Given the description of an element on the screen output the (x, y) to click on. 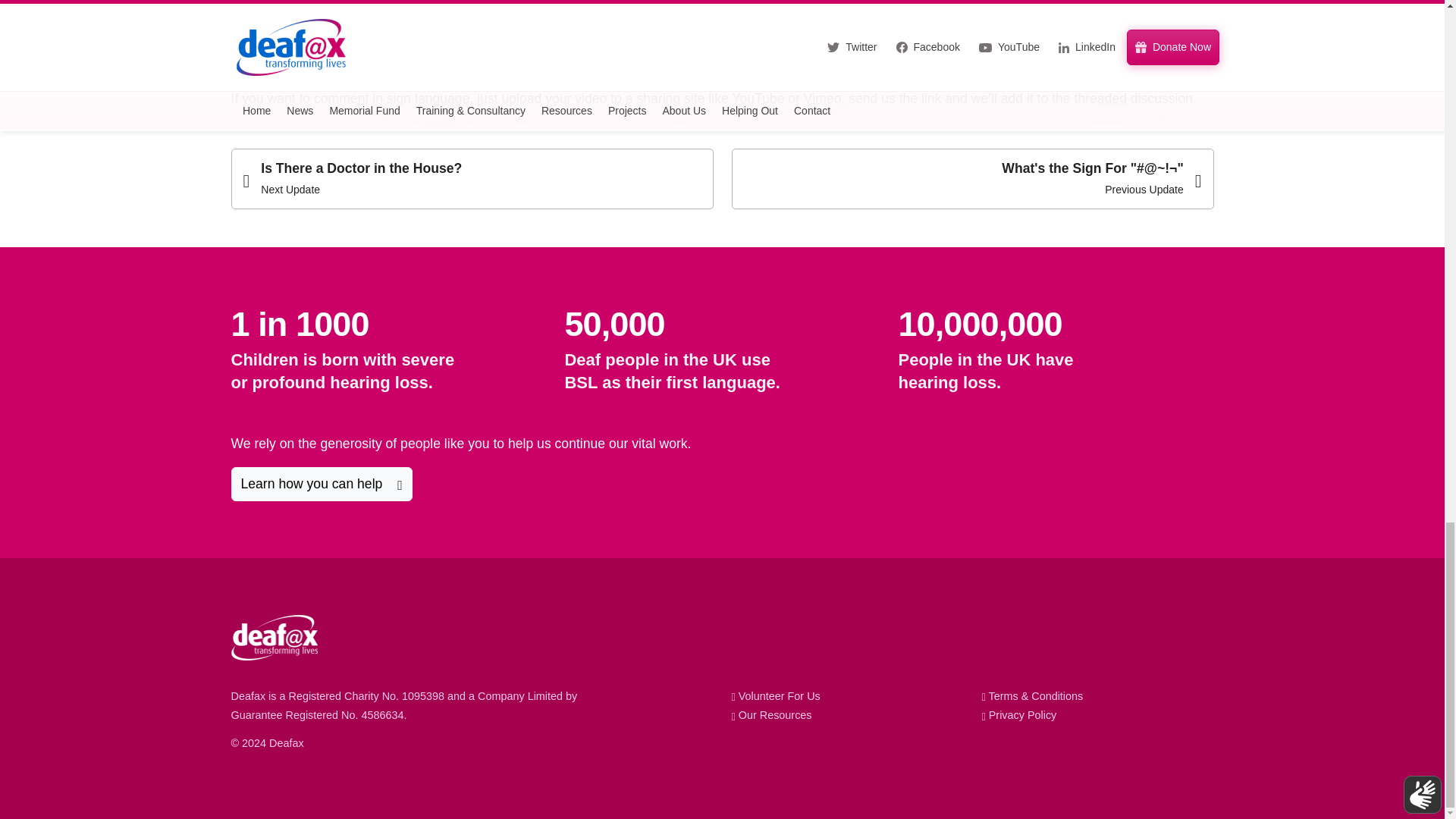
Volunteer For Us (774, 695)
Our Resources (770, 715)
Learn how you can help (321, 483)
Privacy Policy (1019, 715)
